Given the description of an element on the screen output the (x, y) to click on. 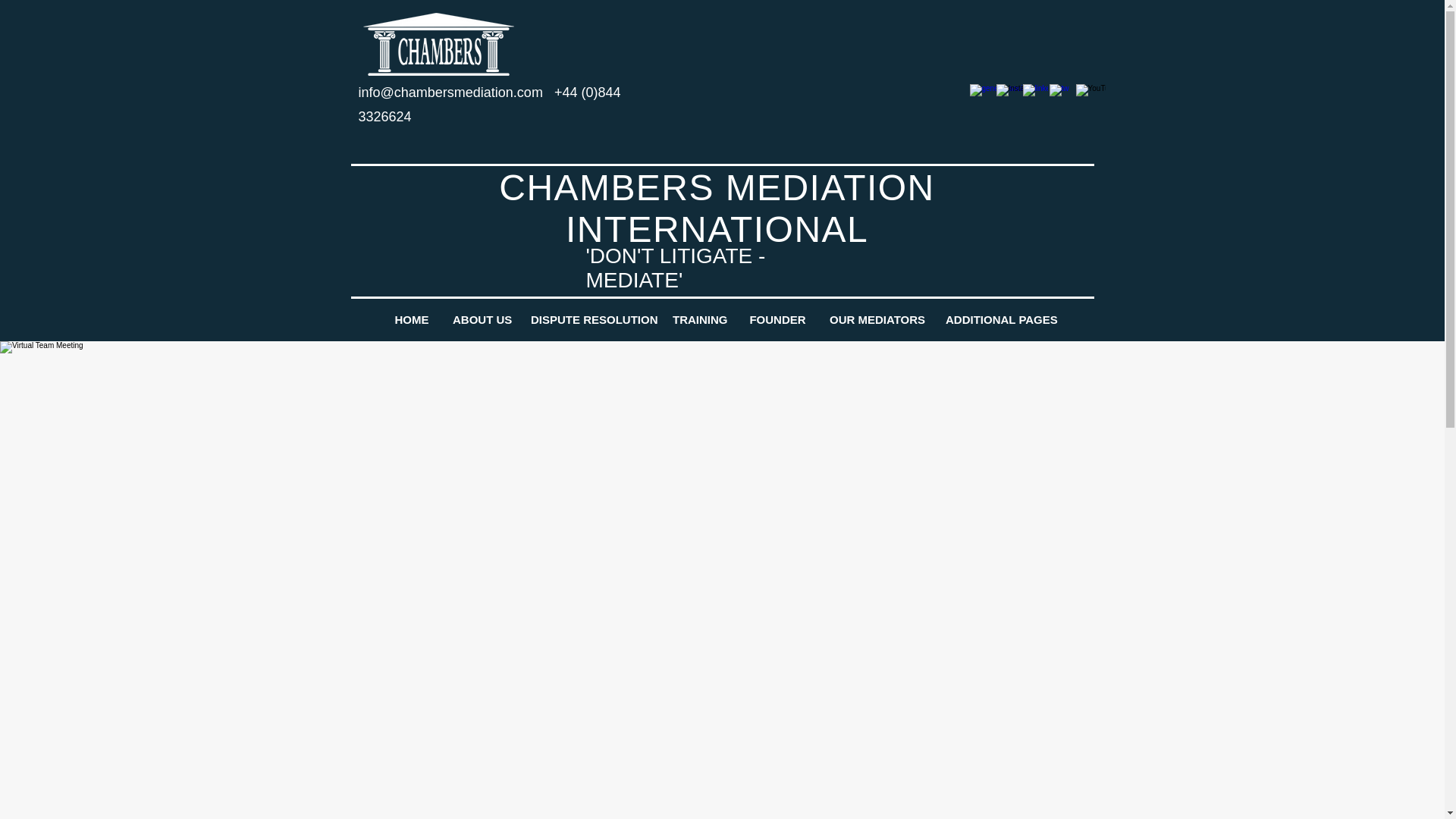
OUR MEDIATORS (874, 319)
FOUNDER (776, 319)
ABOUT US (479, 319)
DISPUTE RESOLUTION (589, 319)
TRAINING (698, 319)
HOME (411, 319)
